Given the description of an element on the screen output the (x, y) to click on. 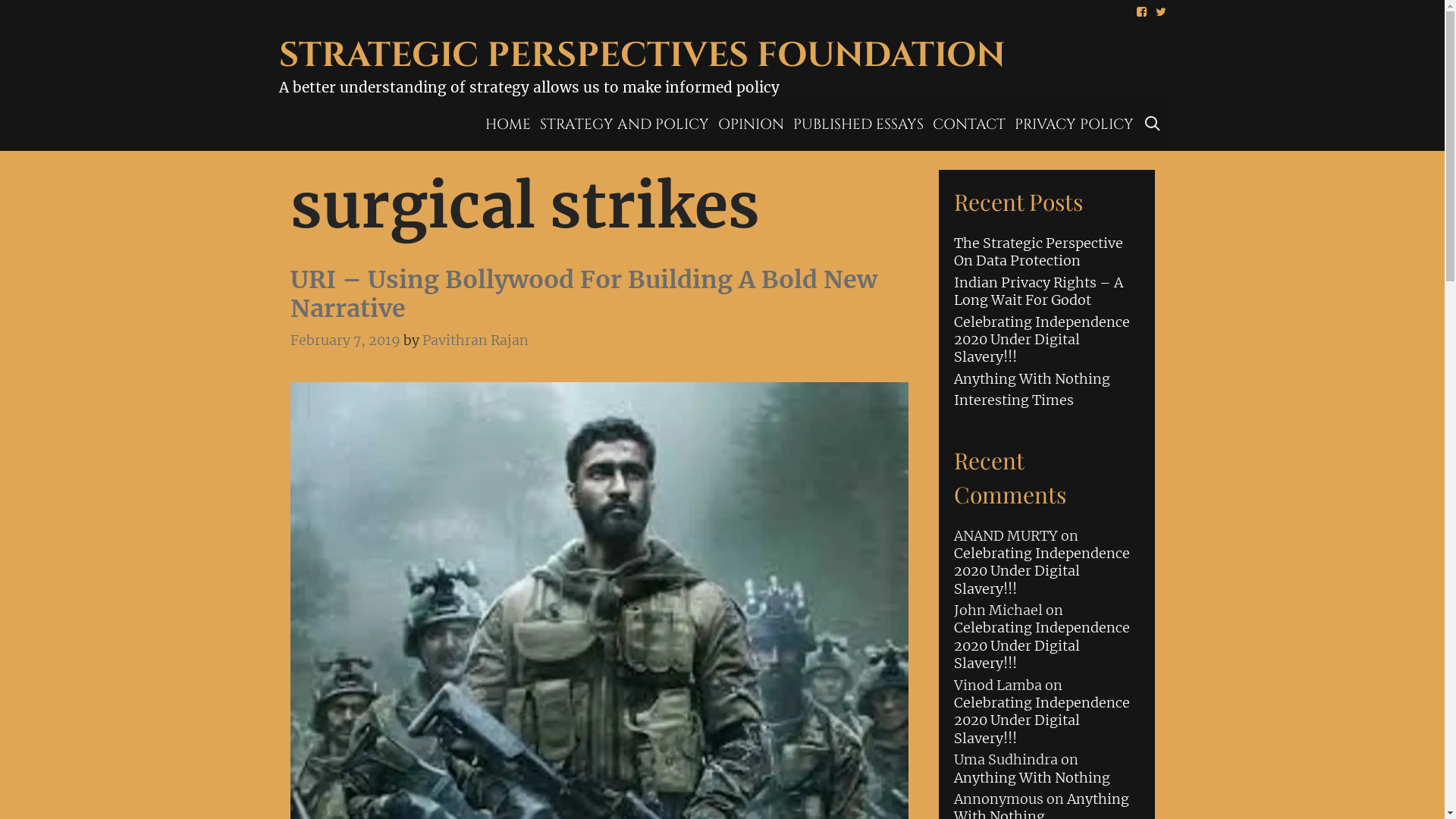
PUBLISHED ESSAYS Element type: text (858, 123)
Celebrating Independence 2020 Under Digital Slavery!!! Element type: text (1041, 339)
Interesting Times Element type: text (1013, 399)
HOME Element type: text (507, 123)
Pavithran Rajan Element type: text (474, 339)
Celebrating Independence 2020 Under Digital Slavery!!! Element type: text (1041, 570)
Celebrating Independence 2020 Under Digital Slavery!!! Element type: text (1041, 719)
STRATEGIC PERSPECTIVES FOUNDATION Element type: text (642, 54)
Search Element type: text (37, 19)
OPINION Element type: text (750, 123)
PRIVACY POLICY Element type: text (1074, 123)
SEARCH Element type: text (1151, 123)
February 7, 2019 Element type: text (344, 339)
Celebrating Independence 2020 Under Digital Slavery!!! Element type: text (1041, 644)
Search Element type: text (342, 26)
STRATEGY AND POLICY Element type: text (624, 123)
Anything With Nothing Element type: text (1031, 378)
Anything With Nothing Element type: text (1031, 777)
The Strategic Perspective On Data Protection Element type: text (1038, 251)
CONTACT Element type: text (969, 123)
